Given the description of an element on the screen output the (x, y) to click on. 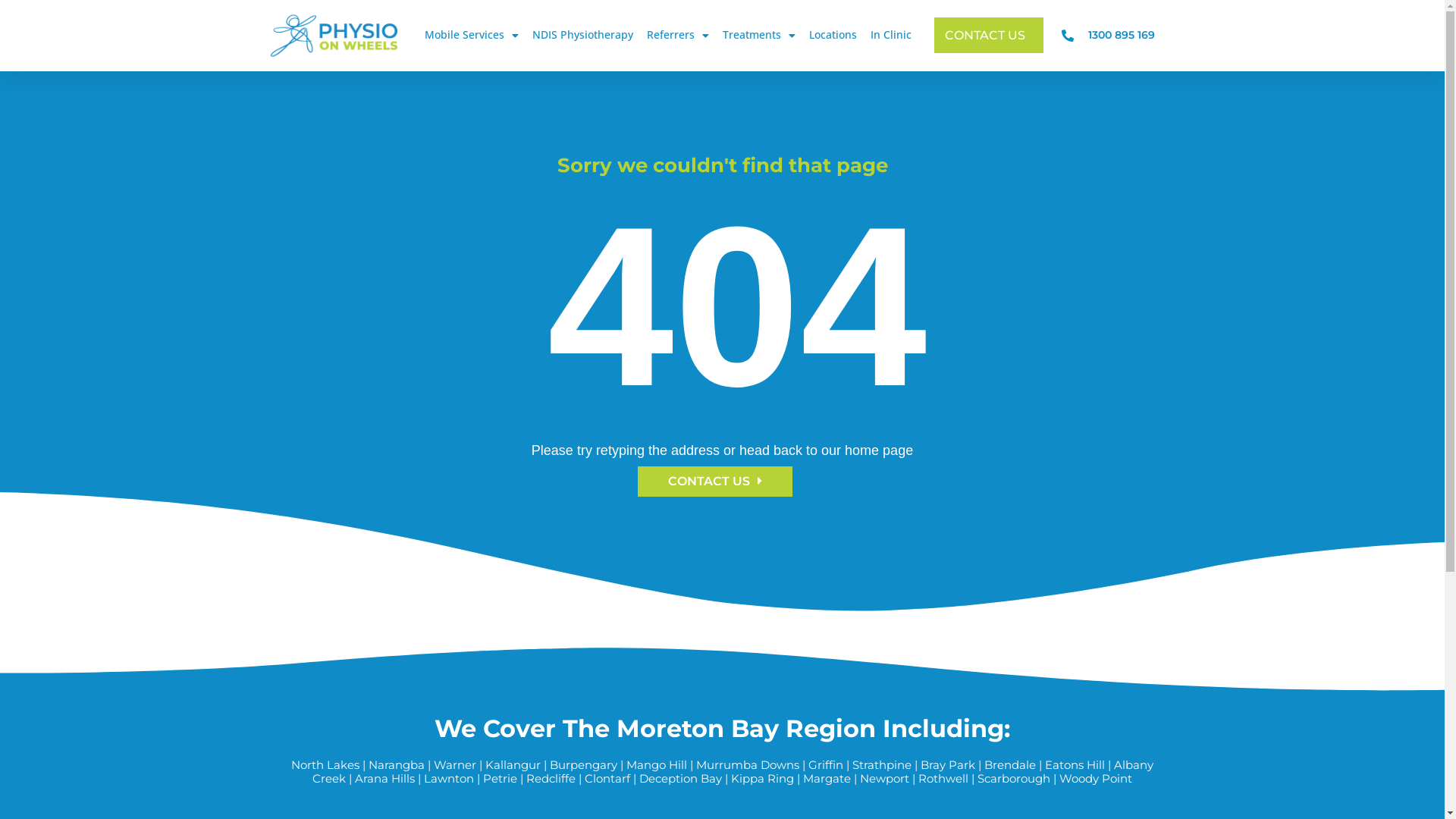
CONTACT US Element type: text (714, 480)
1300 895 169 Element type: text (1107, 34)
Treatments Element type: text (758, 34)
Referrers Element type: text (677, 34)
CONTACT US Element type: text (988, 35)
Mobile Services Element type: text (471, 34)
NDIS Physiotherapy Element type: text (582, 34)
Locations Element type: text (832, 34)
In Clinic Element type: text (890, 34)
